Given the description of an element on the screen output the (x, y) to click on. 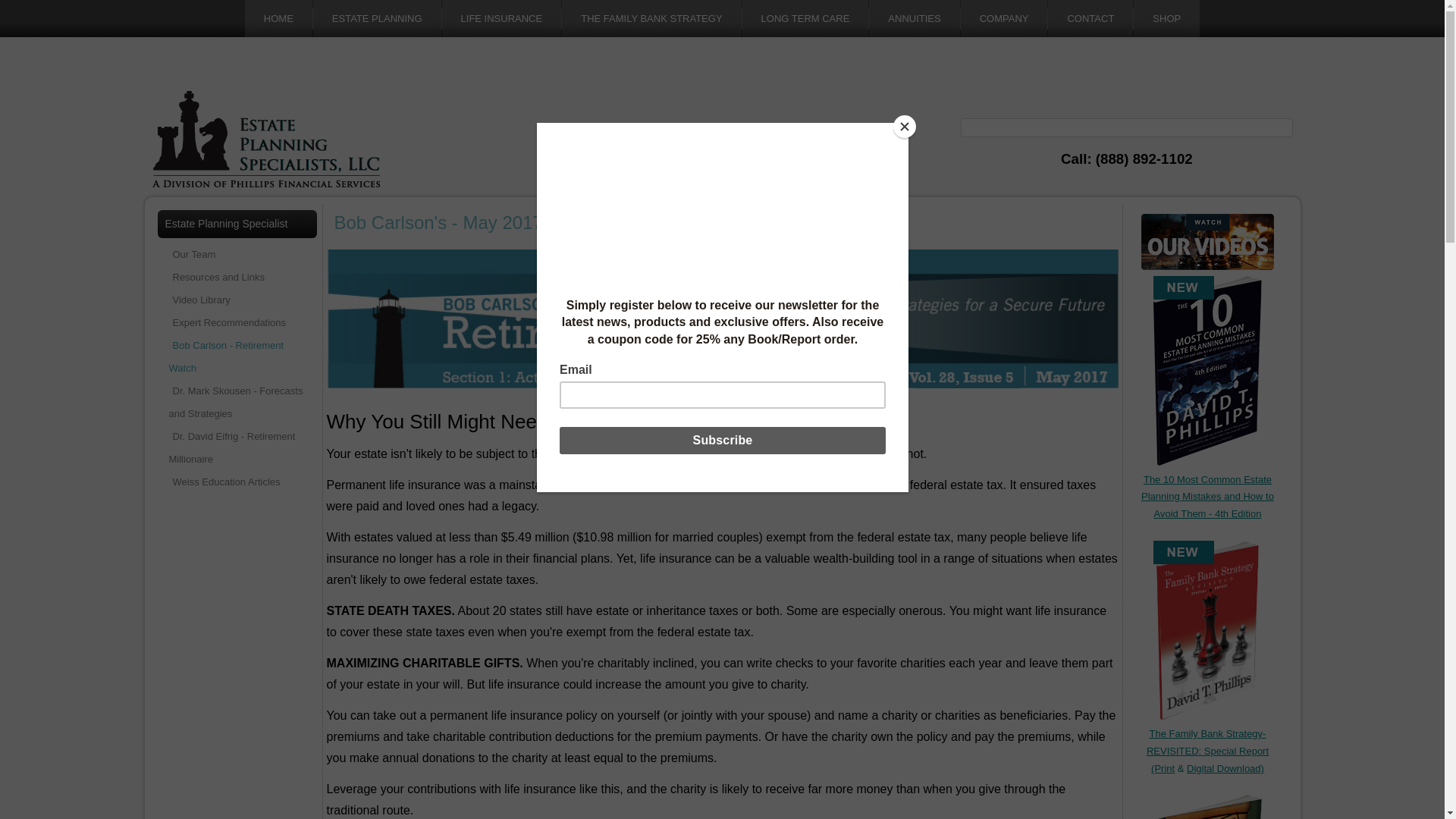
Weiss Education Articles (237, 481)
COMPANY (1004, 18)
LIFE INSURANCE (502, 18)
Resources and Links (237, 277)
Bob Carlson - Retirement Watch (237, 357)
Expert Recommendations (237, 323)
THE FAMILY BANK STRATEGY (651, 18)
CONTACT (1090, 18)
Dr. David Eifrig - Retirement Millionaire (237, 447)
